Given the description of an element on the screen output the (x, y) to click on. 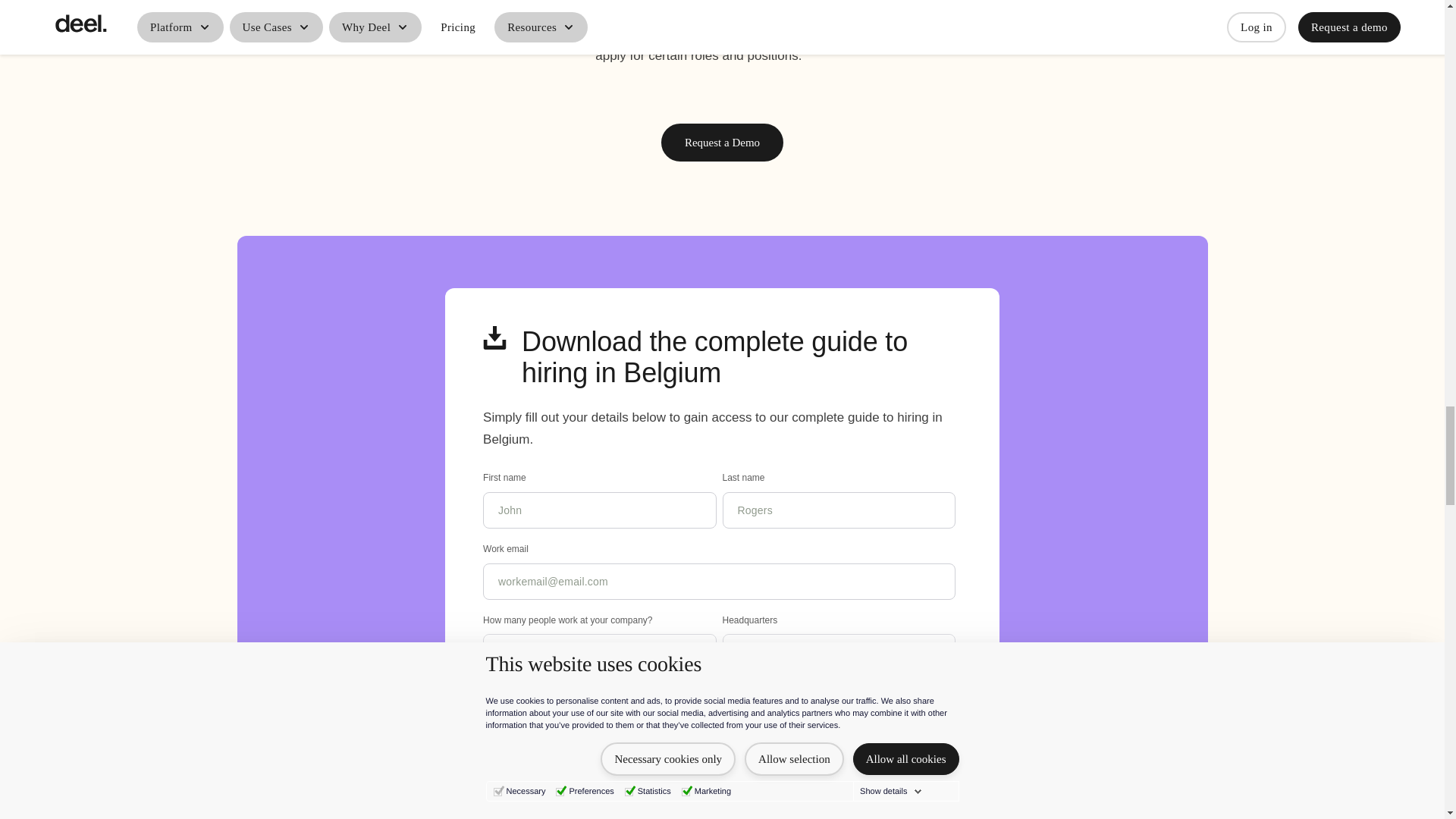
Download the guide (560, 752)
